Given the description of an element on the screen output the (x, y) to click on. 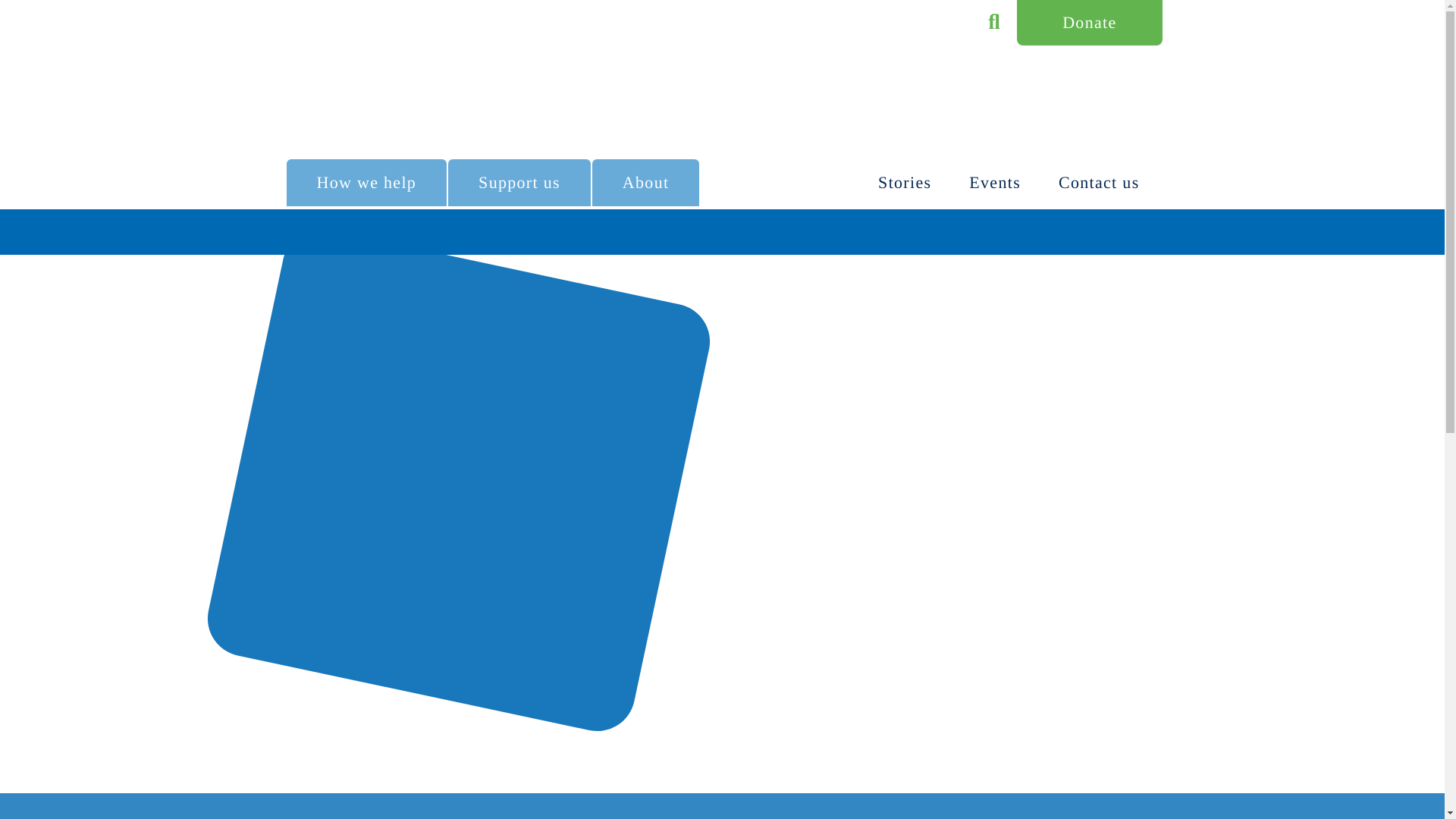
Events (994, 181)
How we help (366, 181)
Contact us (1099, 181)
Search (993, 22)
About (646, 181)
Donate (1088, 22)
Support us (519, 181)
Stories (904, 181)
